Given the description of an element on the screen output the (x, y) to click on. 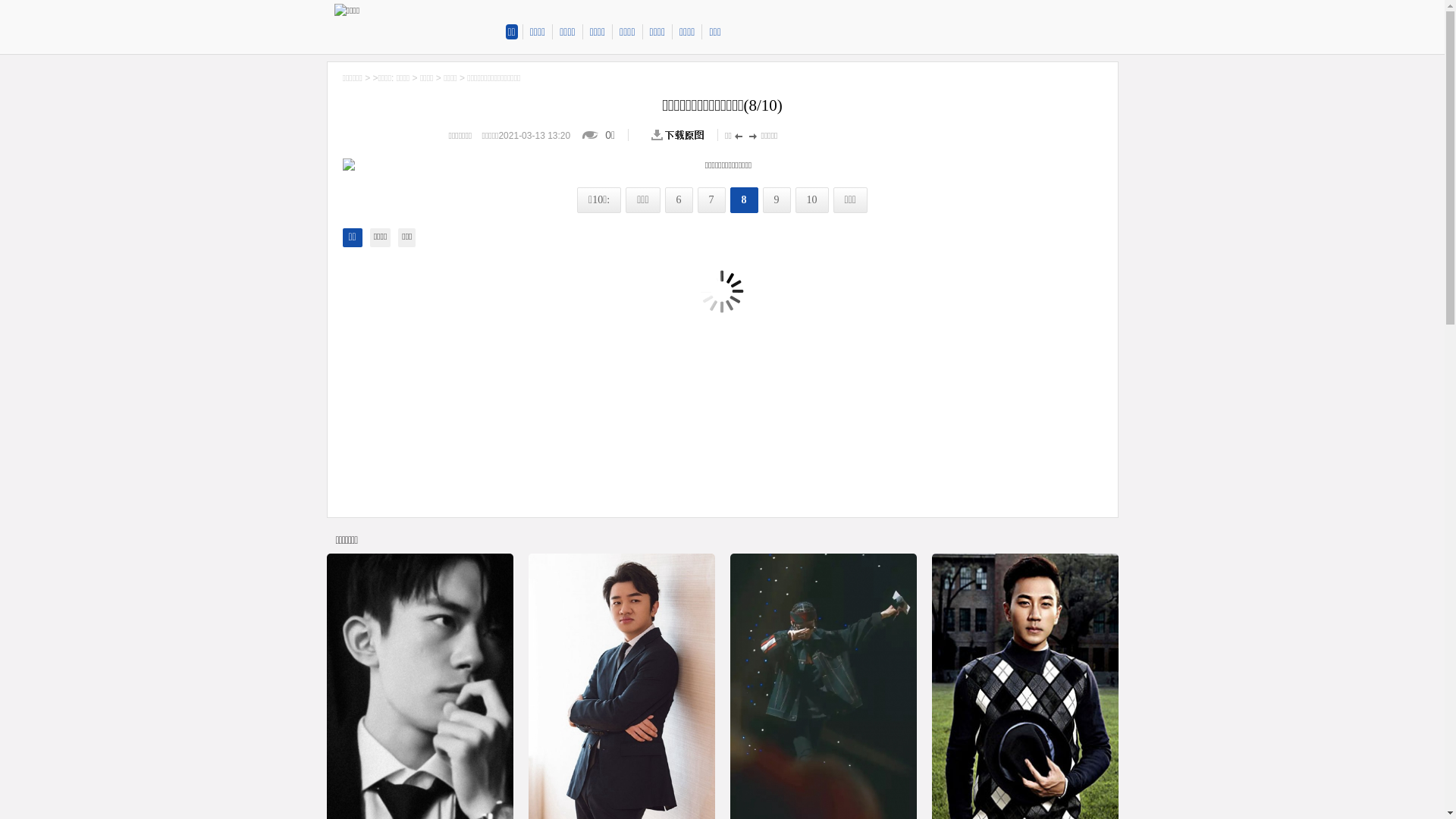
7 Element type: text (711, 200)
8 Element type: text (744, 200)
10 Element type: text (811, 200)
9 Element type: text (776, 200)
6 Element type: text (679, 200)
